Given the description of an element on the screen output the (x, y) to click on. 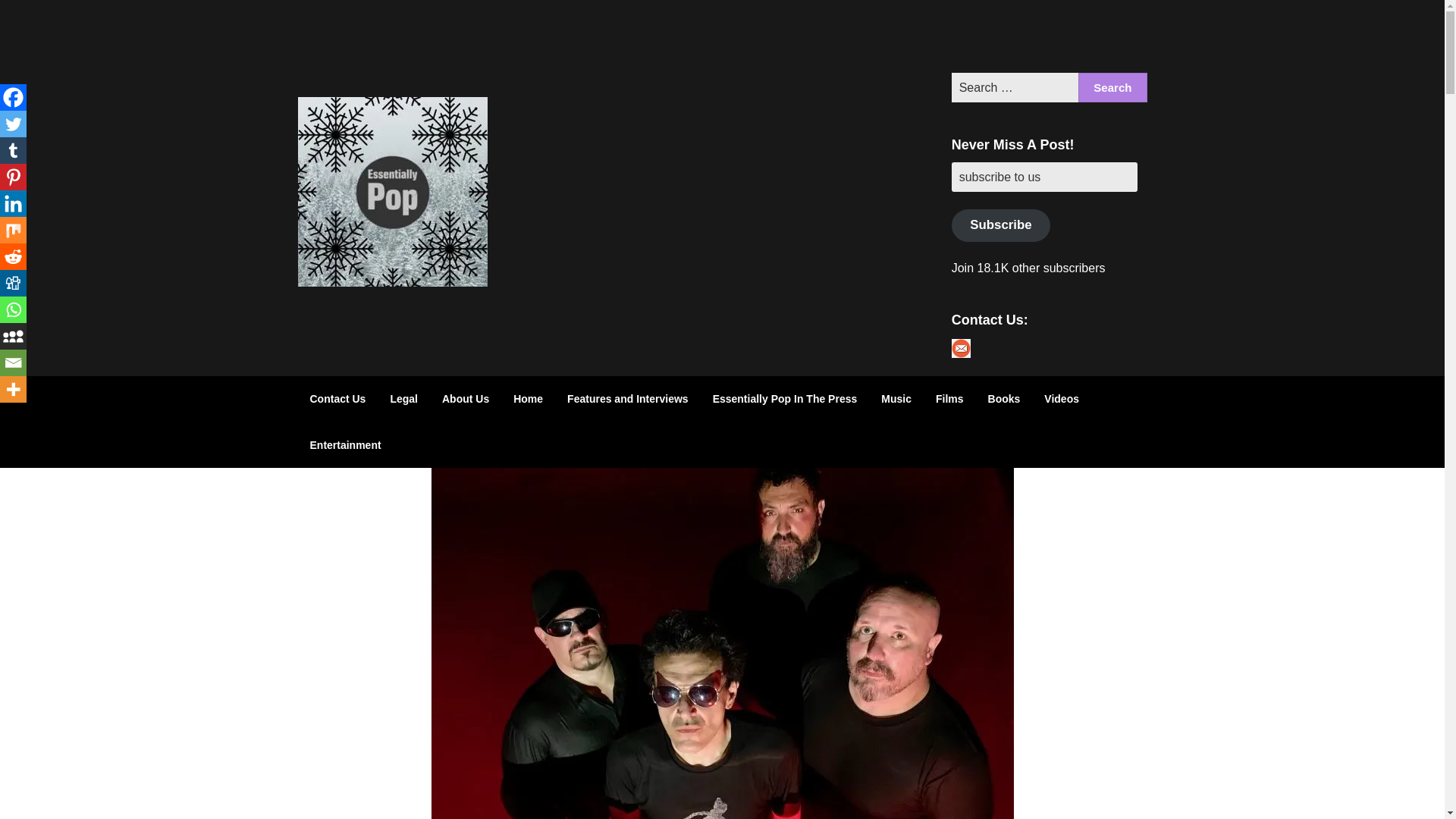
Email (13, 362)
Linkedin (13, 203)
Music (896, 398)
Entertainment (345, 444)
Twitter (13, 123)
Tumblr (13, 150)
Legal (403, 398)
Search (1112, 87)
Videos (1061, 398)
Subscribe (1000, 225)
